Given the description of an element on the screen output the (x, y) to click on. 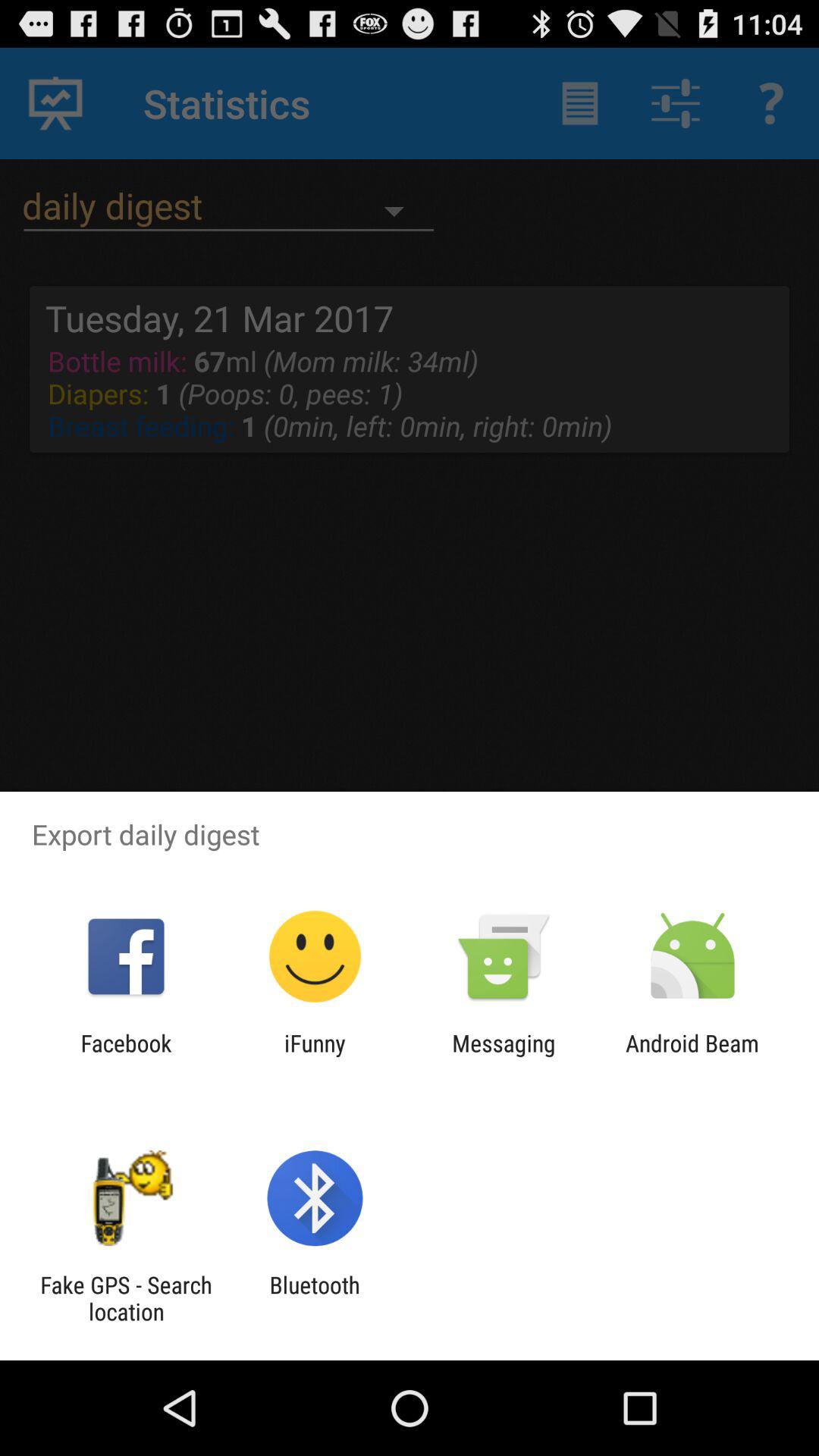
turn off the app to the right of facebook (314, 1056)
